Given the description of an element on the screen output the (x, y) to click on. 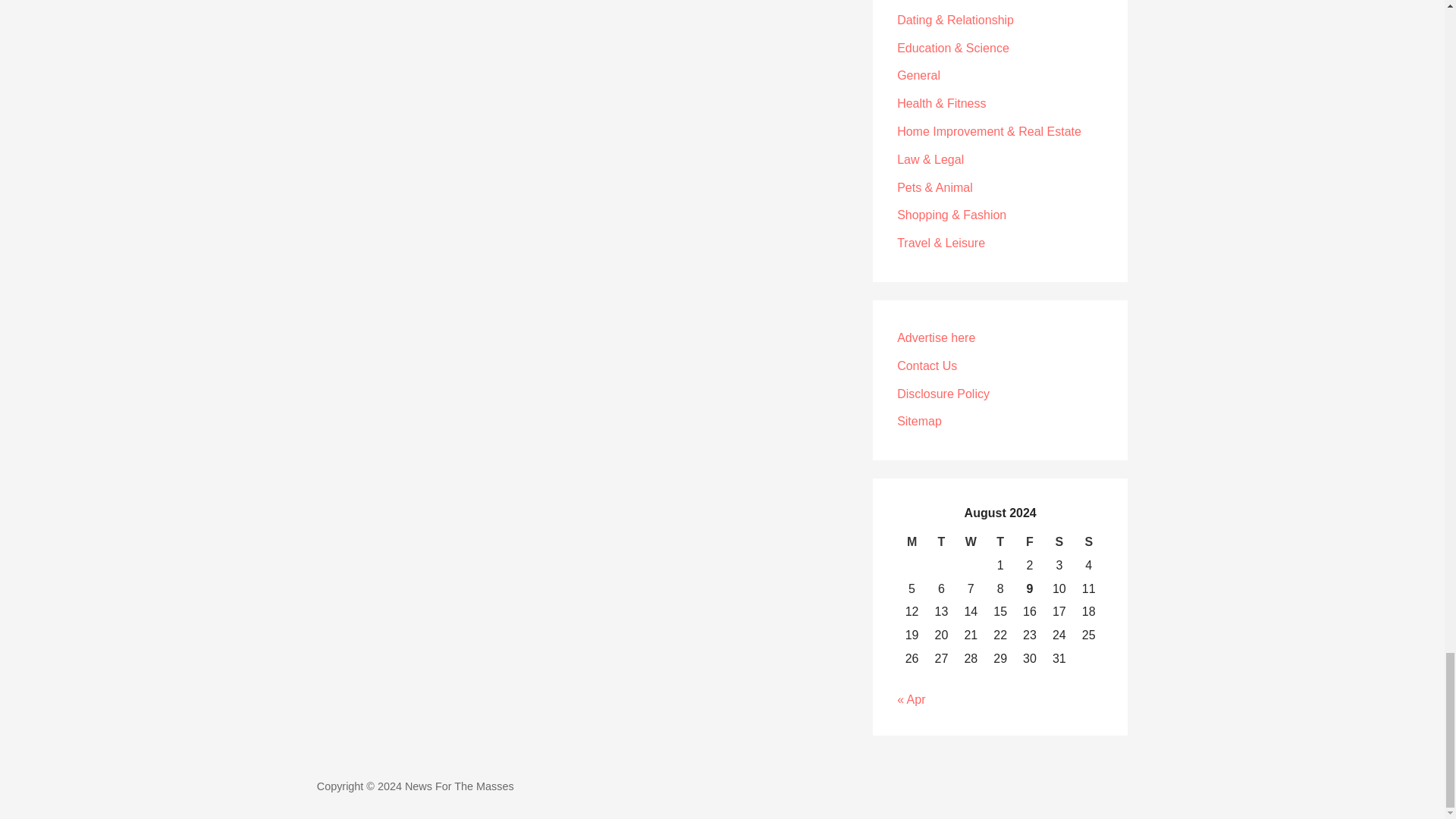
Sunday (1088, 542)
Friday (1029, 542)
Monday (911, 542)
Wednesday (970, 542)
Tuesday (941, 542)
Saturday (1058, 542)
Thursday (999, 542)
